Given the description of an element on the screen output the (x, y) to click on. 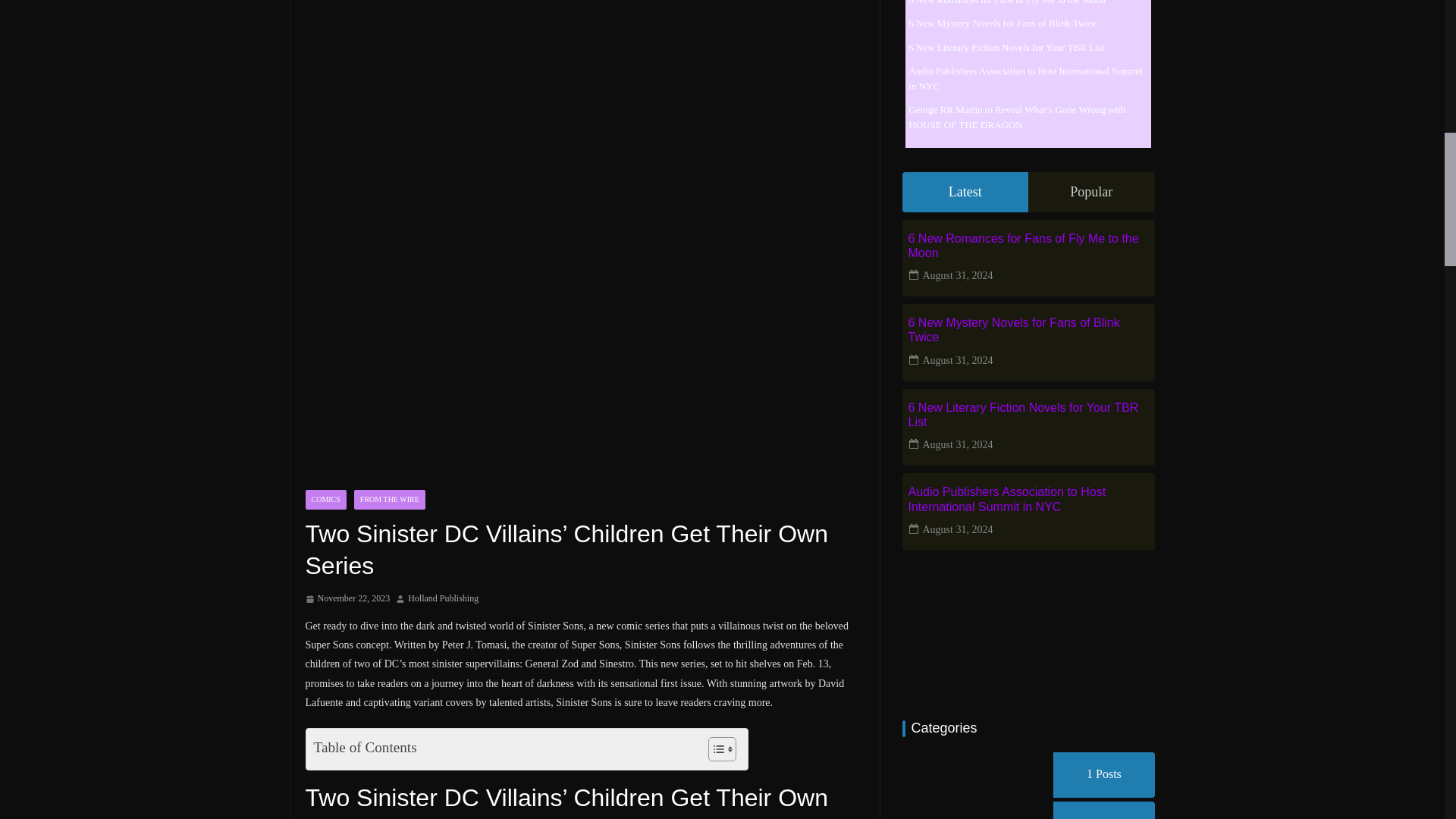
FROM THE WIRE (389, 499)
COMICS (325, 499)
Holland Publishing (443, 598)
9:13 am (347, 598)
Holland Publishing (443, 598)
November 22, 2023 (347, 598)
